Given the description of an element on the screen output the (x, y) to click on. 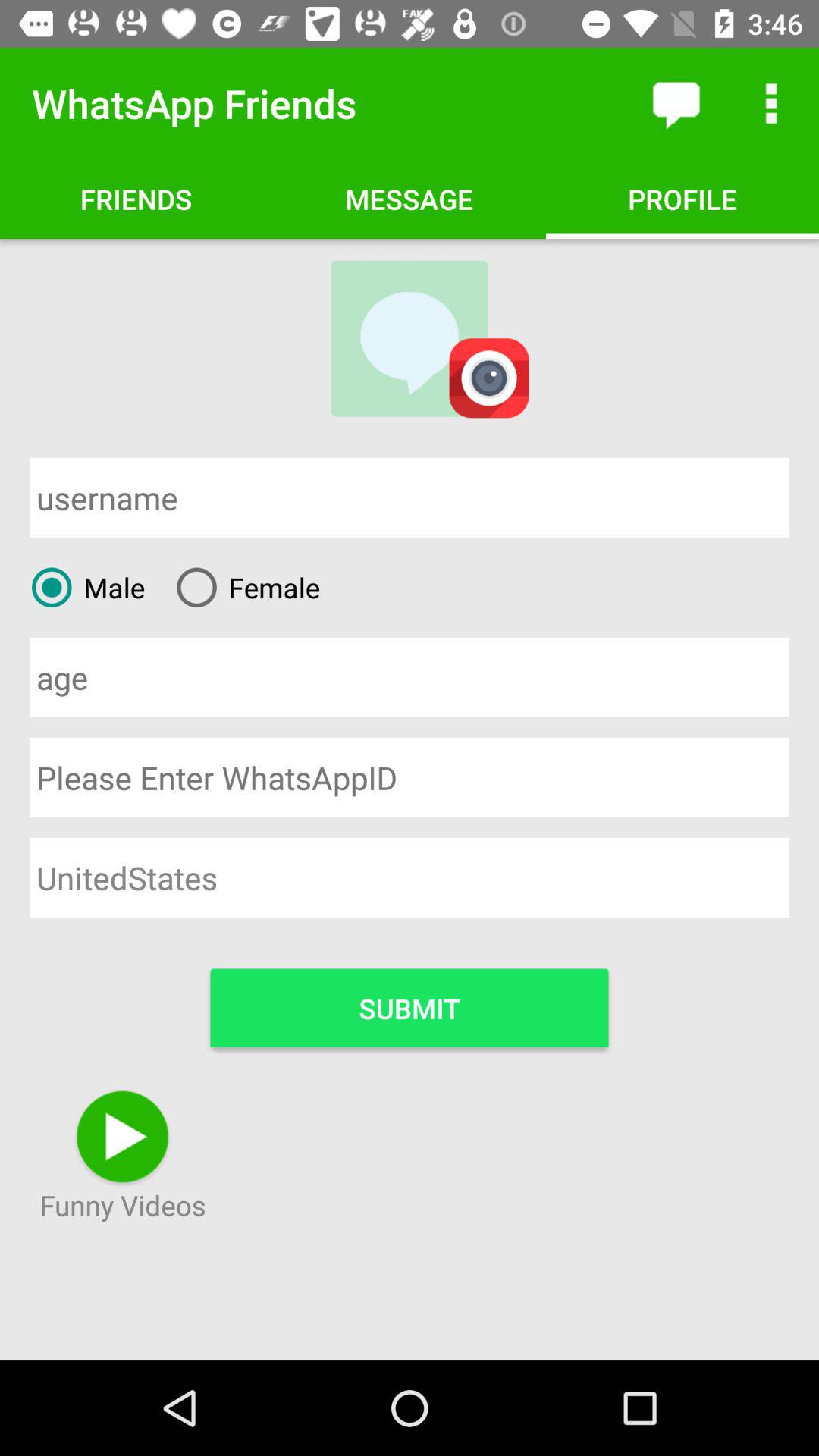
press male item (82, 587)
